Given the description of an element on the screen output the (x, y) to click on. 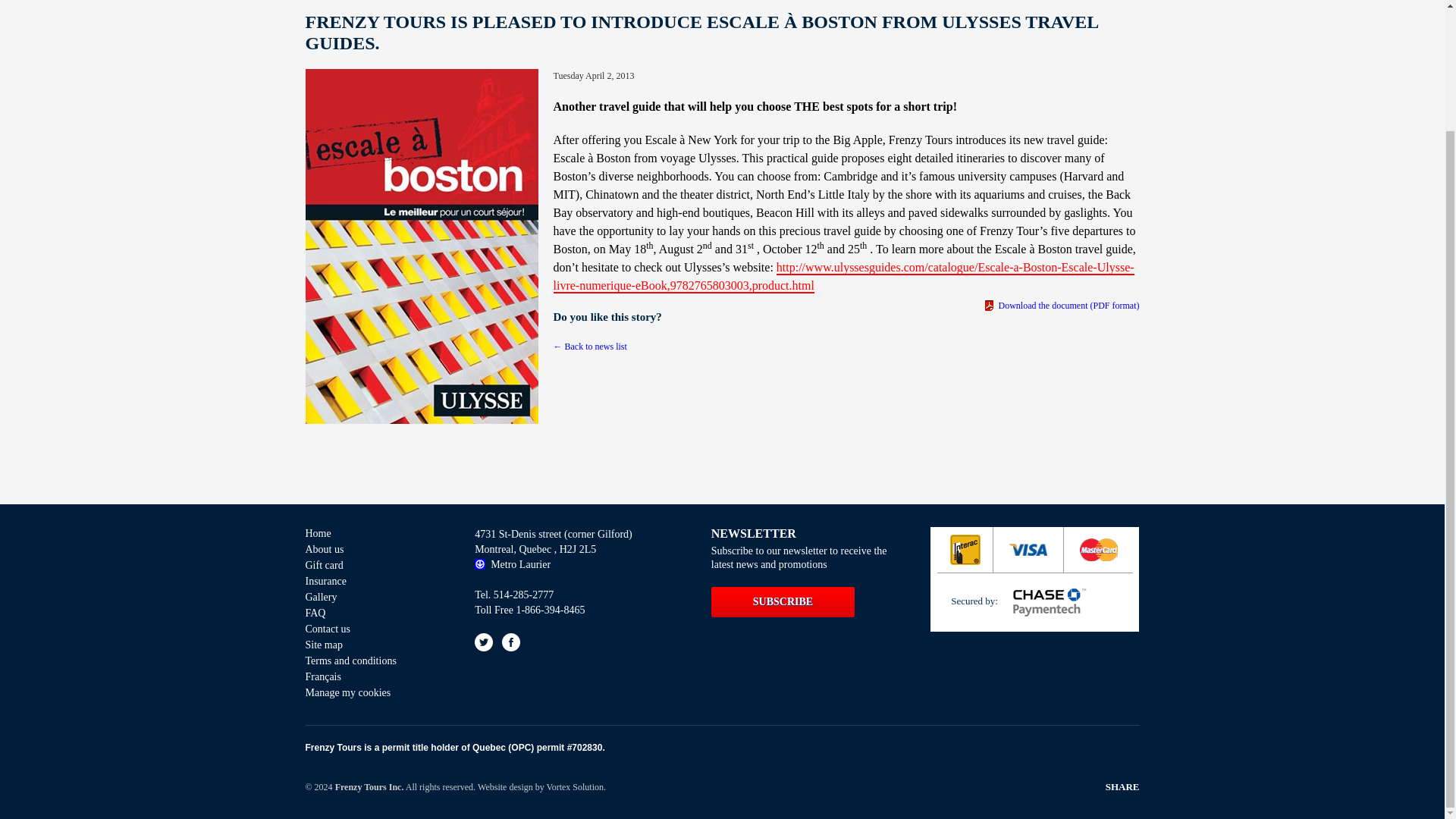
Terms and conditions (375, 661)
SUBSCRIBE (782, 602)
Gallery (375, 597)
About us (375, 549)
Home (375, 533)
Site map (375, 644)
Vortex Solution (569, 786)
Contact us (375, 629)
Insurance (375, 581)
Manage my cookies (375, 693)
